Given the description of an element on the screen output the (x, y) to click on. 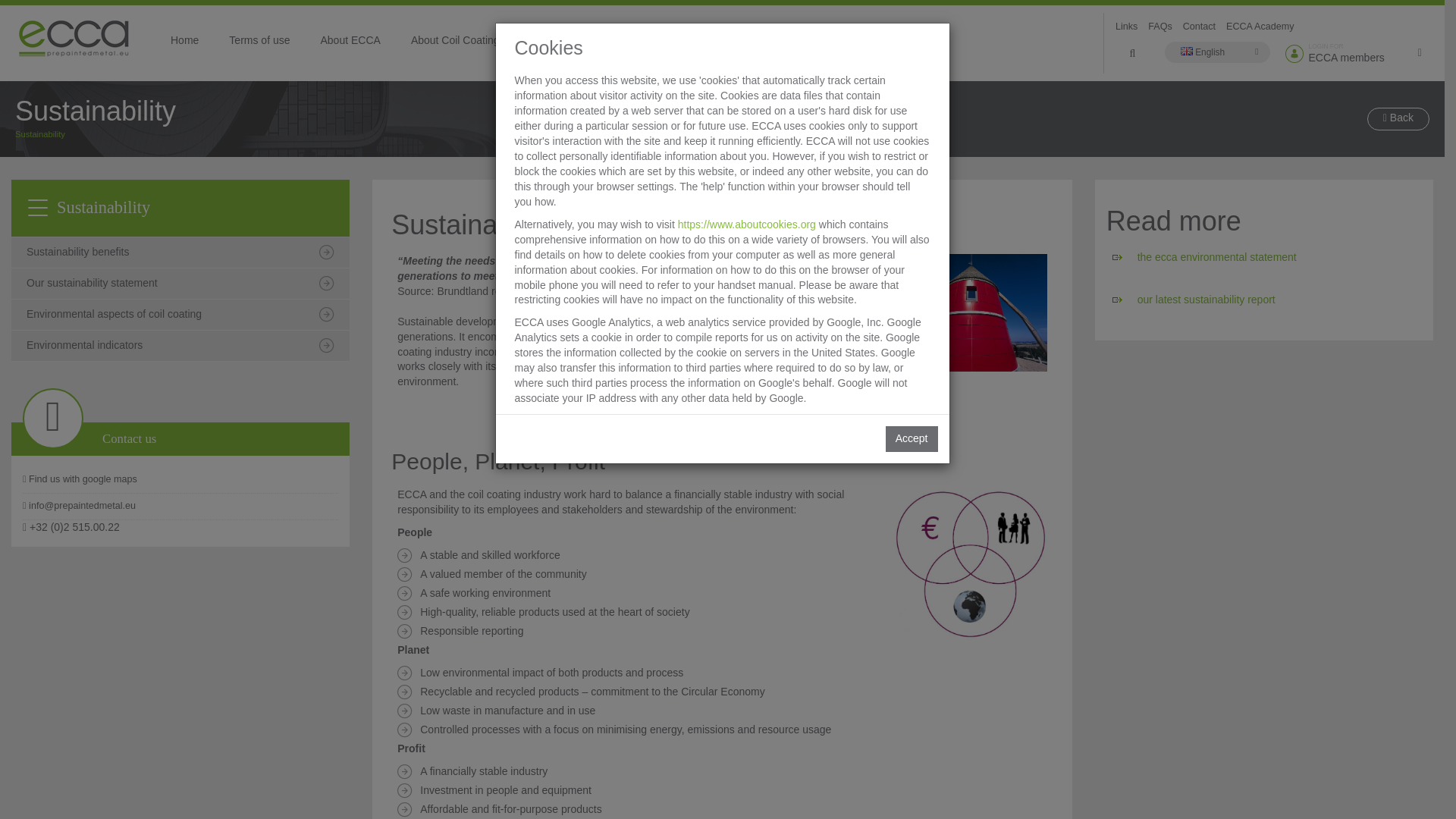
the ecca environmental statement (1217, 256)
Contact (1199, 26)
Environmental aspects of coil coating (180, 314)
English (1217, 52)
Terms of use (259, 39)
Our sustainability statement (180, 283)
Sustainability (39, 133)
Links (1126, 26)
Sustainability (561, 39)
Image courtesy of Corus (970, 312)
Back (1398, 118)
FAQs (1160, 26)
Press (723, 39)
Sustainability benefits (1358, 53)
